Given the description of an element on the screen output the (x, y) to click on. 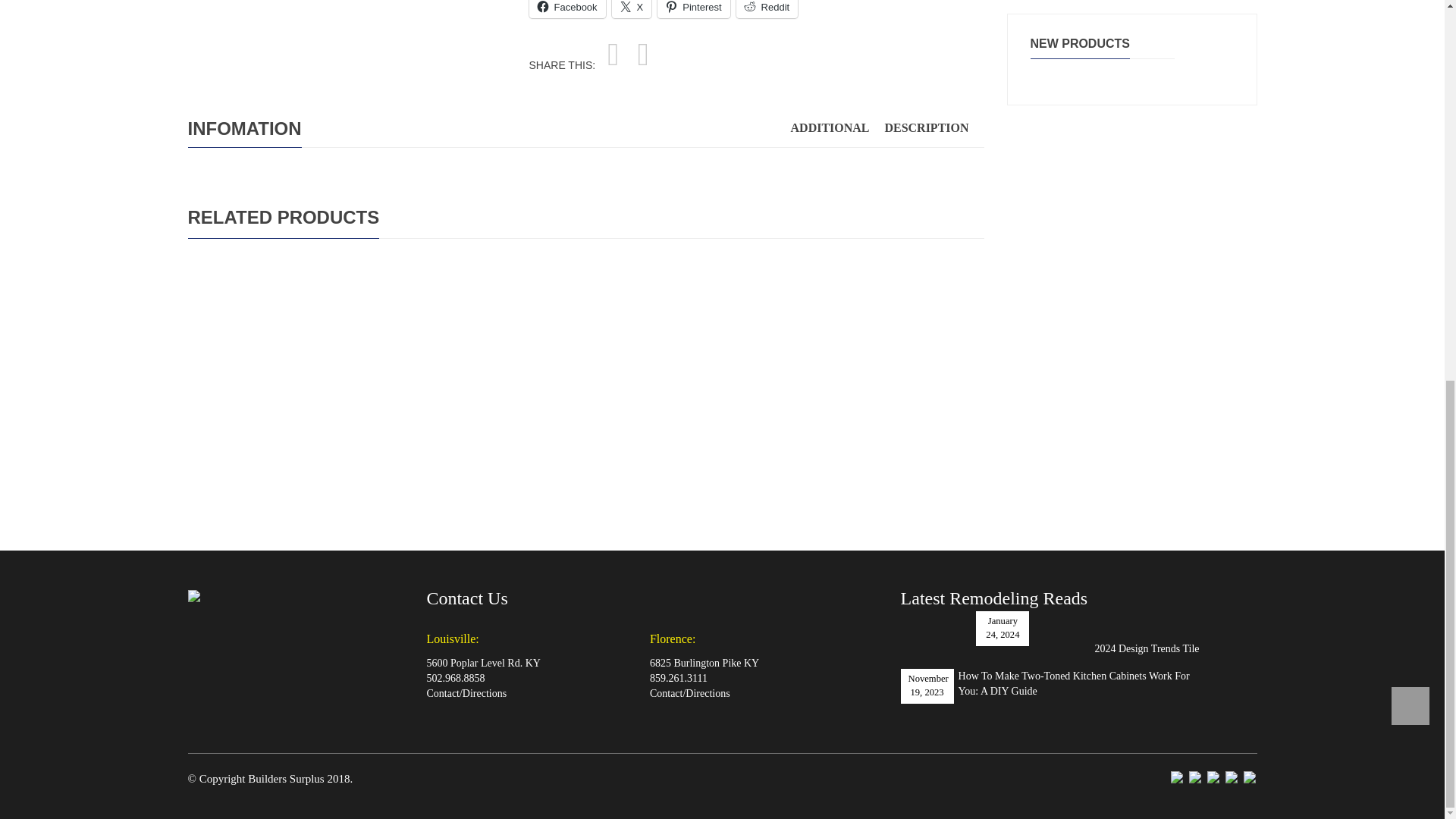
Click to share on X (631, 9)
Click to share on Facebook (567, 9)
Click to share on Pinterest (693, 9)
Click to share on Reddit (766, 9)
